Given the description of an element on the screen output the (x, y) to click on. 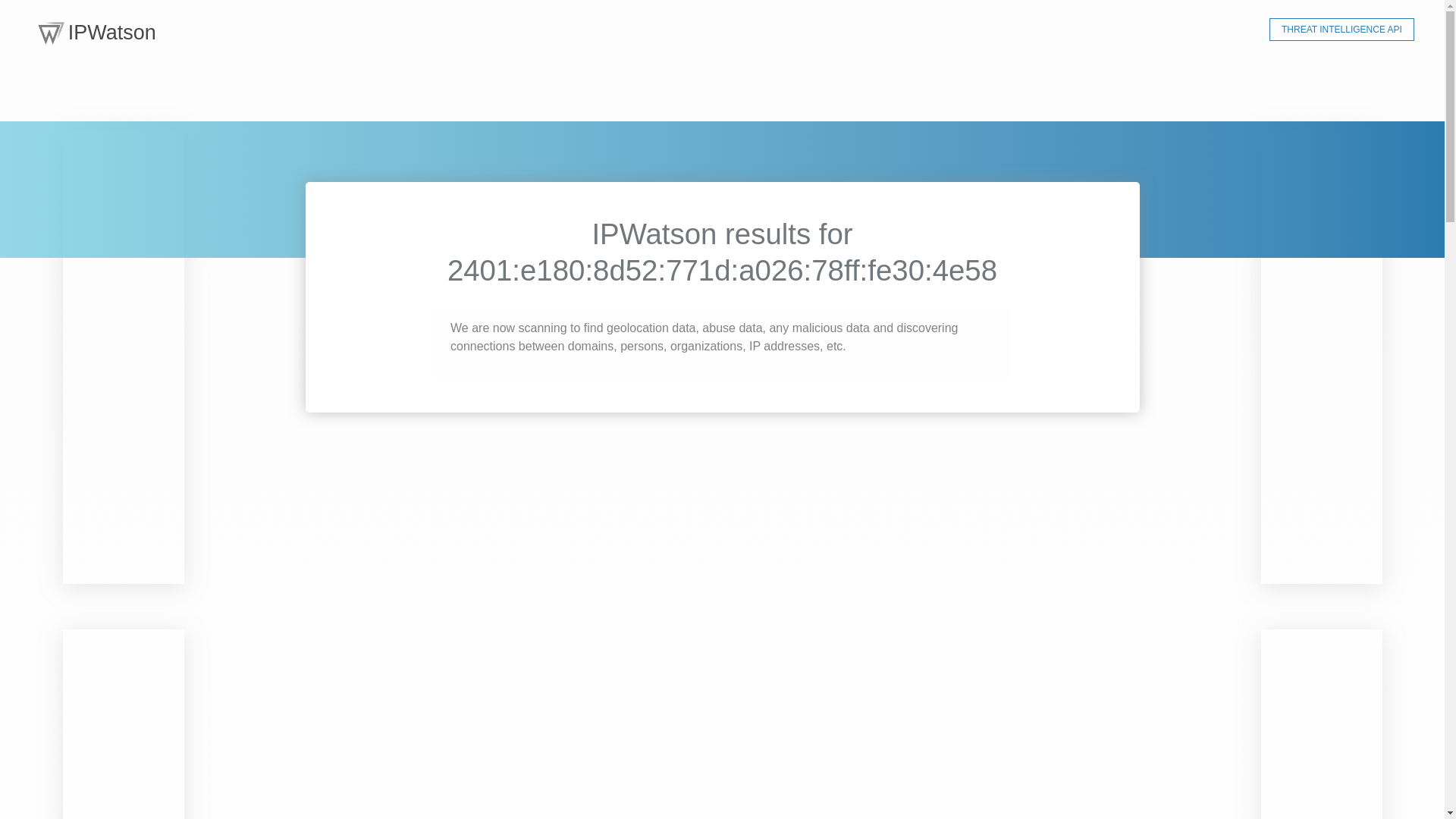
IPWatson (97, 29)
THREAT INTELLIGENCE API (1341, 29)
